Given the description of an element on the screen output the (x, y) to click on. 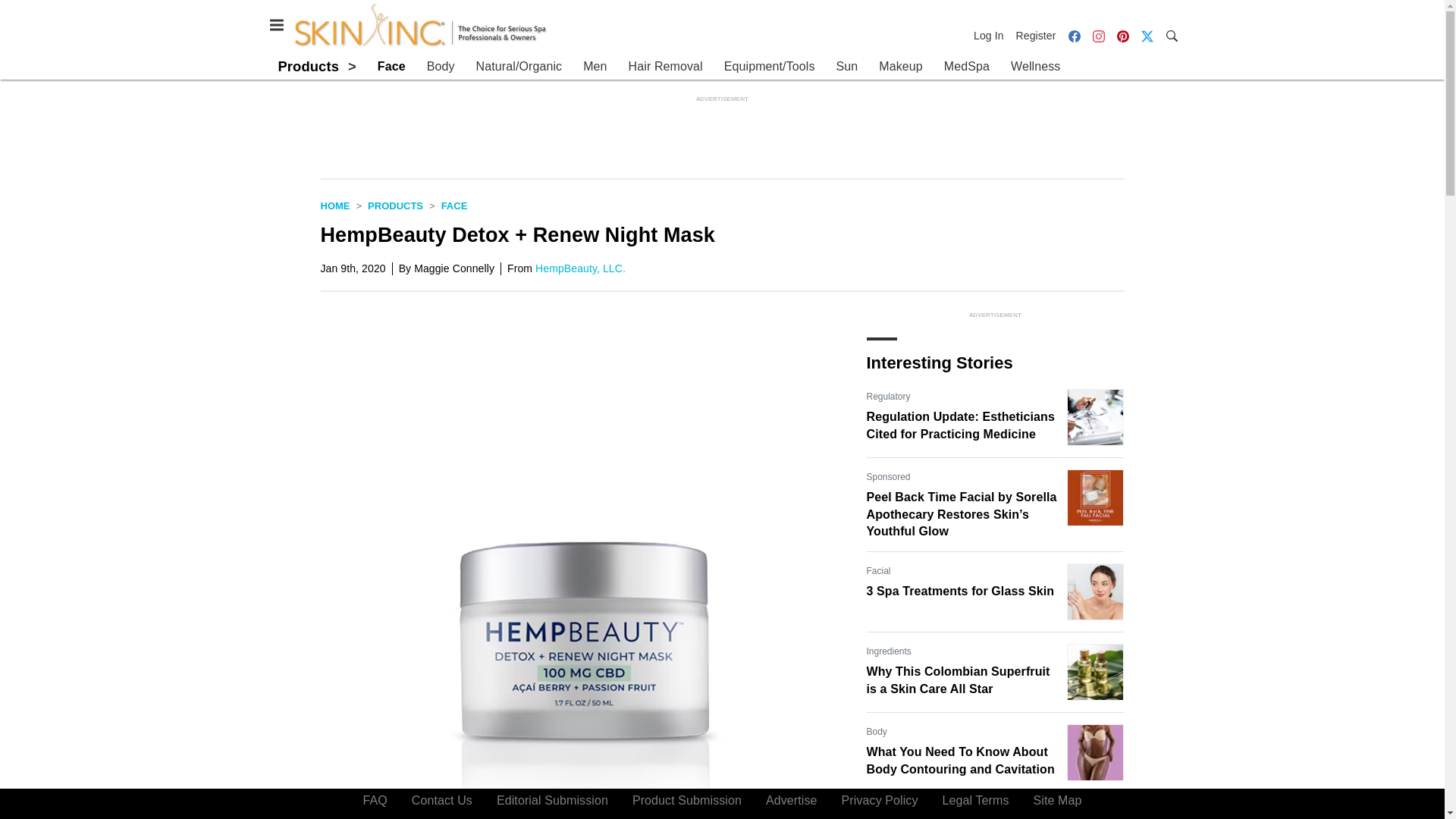
Twitter X icon (1146, 35)
Body (440, 66)
Pinterest icon (1122, 36)
Sun (847, 66)
Pinterest icon (1121, 35)
Search (1170, 34)
Log In (992, 35)
Instagram icon (1097, 35)
MedSpa (966, 66)
Home (334, 205)
